Given the description of an element on the screen output the (x, y) to click on. 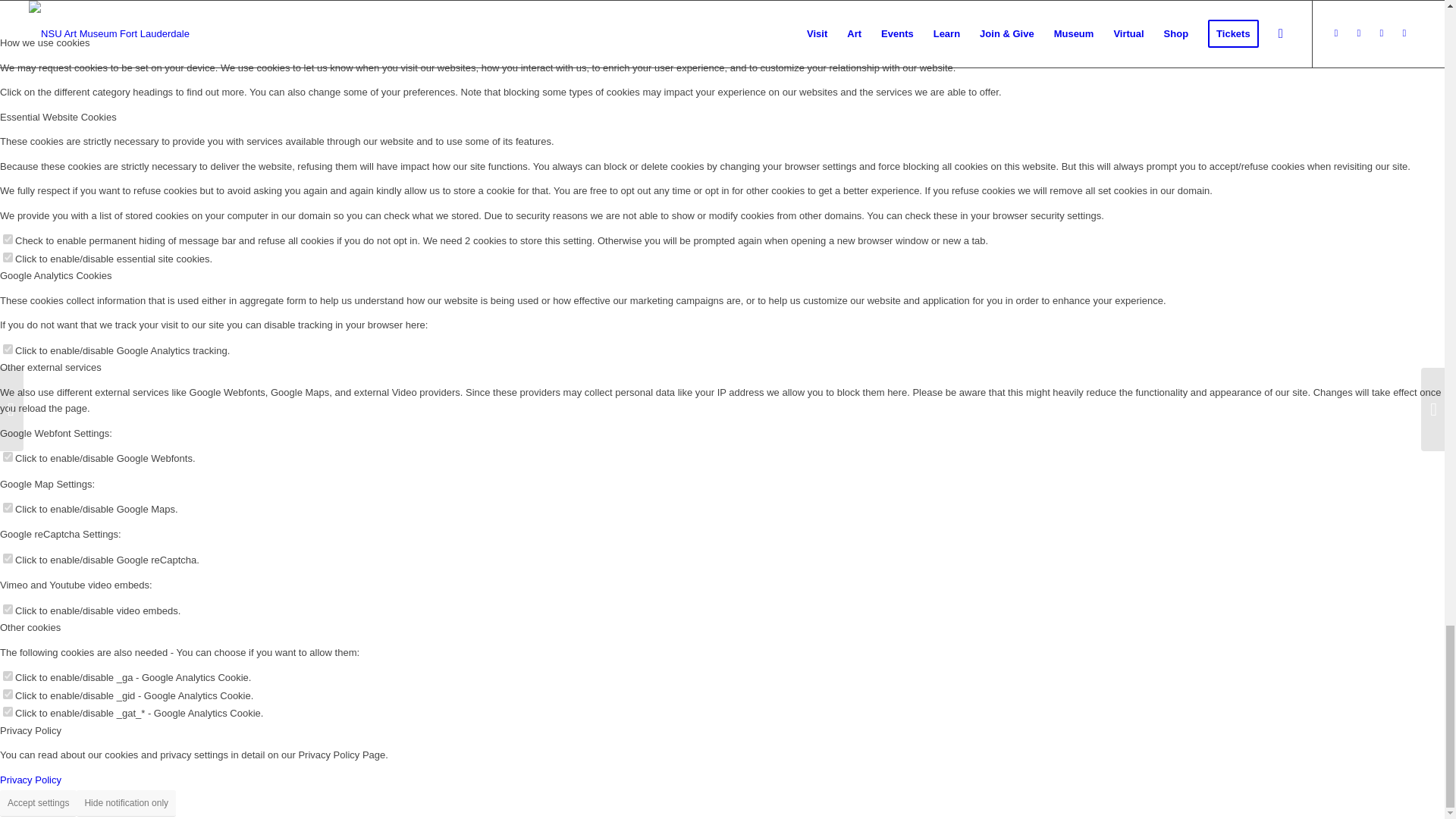
on (7, 675)
on (7, 694)
on (7, 711)
on (7, 558)
on (7, 507)
on (7, 456)
on (7, 239)
on (7, 609)
on (7, 257)
on (7, 348)
